Given the description of an element on the screen output the (x, y) to click on. 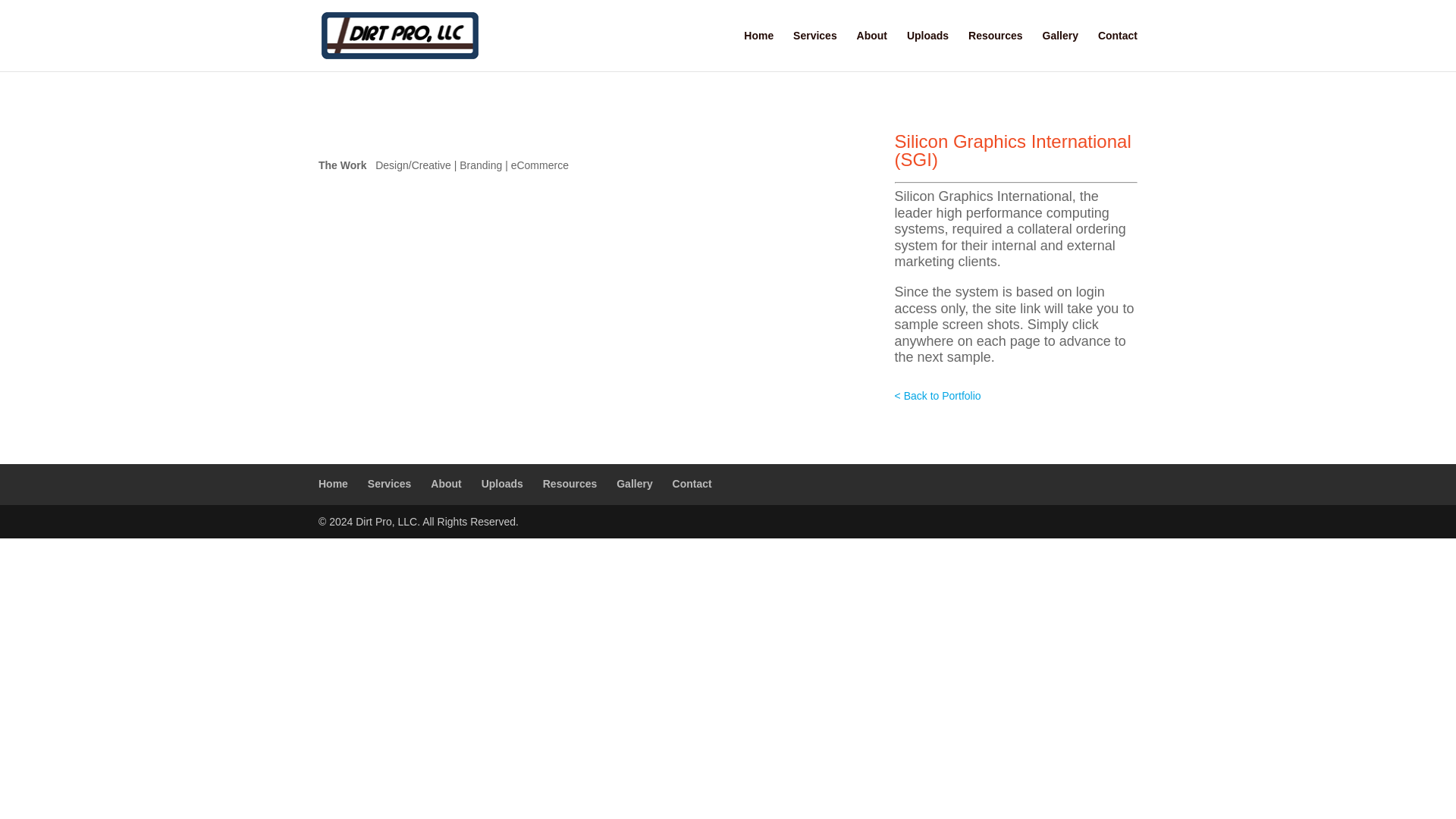
Contact (1117, 50)
Contact (691, 483)
Services (390, 483)
Uploads (501, 483)
Home (332, 483)
Uploads (928, 50)
Gallery (633, 483)
About (445, 483)
Resources (569, 483)
Services (815, 50)
